Given the description of an element on the screen output the (x, y) to click on. 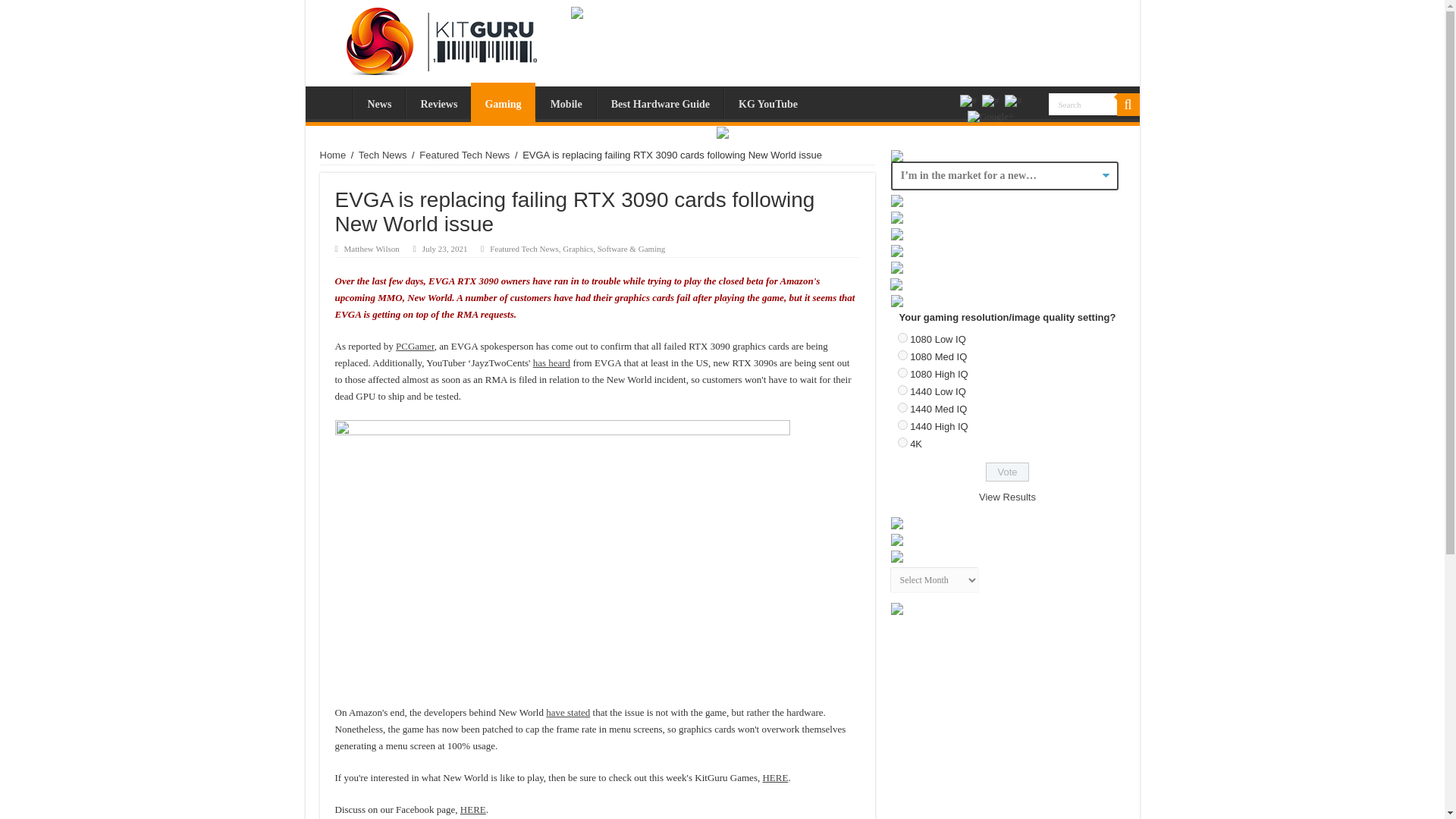
has heard (551, 362)
Mobile (565, 101)
Facebook (967, 100)
Featured Tech News (523, 248)
Youtube (1013, 100)
1380 (902, 355)
1381 (902, 372)
Home (332, 101)
Twitter (989, 100)
Reviews (438, 101)
